Given the description of an element on the screen output the (x, y) to click on. 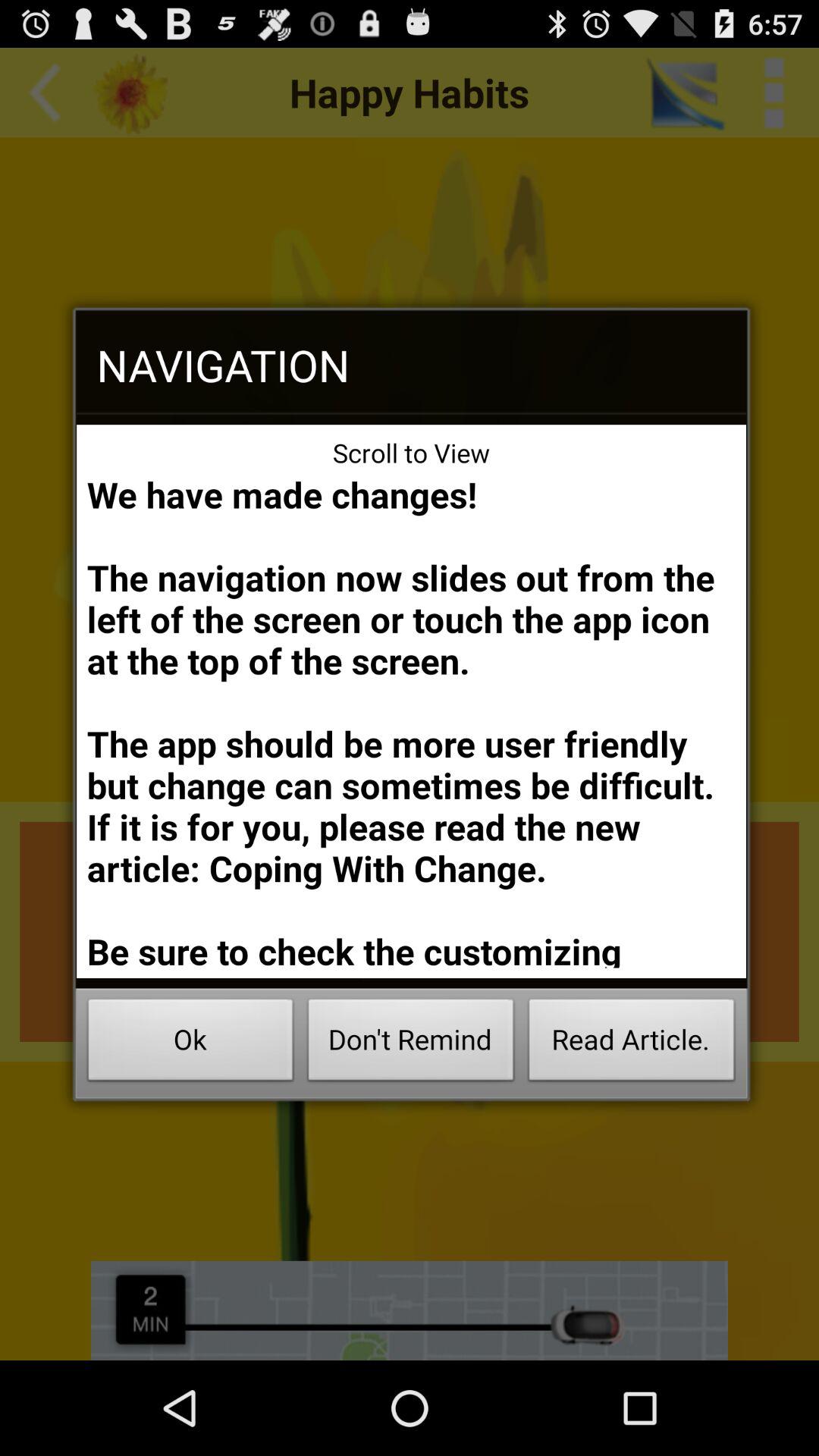
click the icon next to the read article. icon (410, 1044)
